Given the description of an element on the screen output the (x, y) to click on. 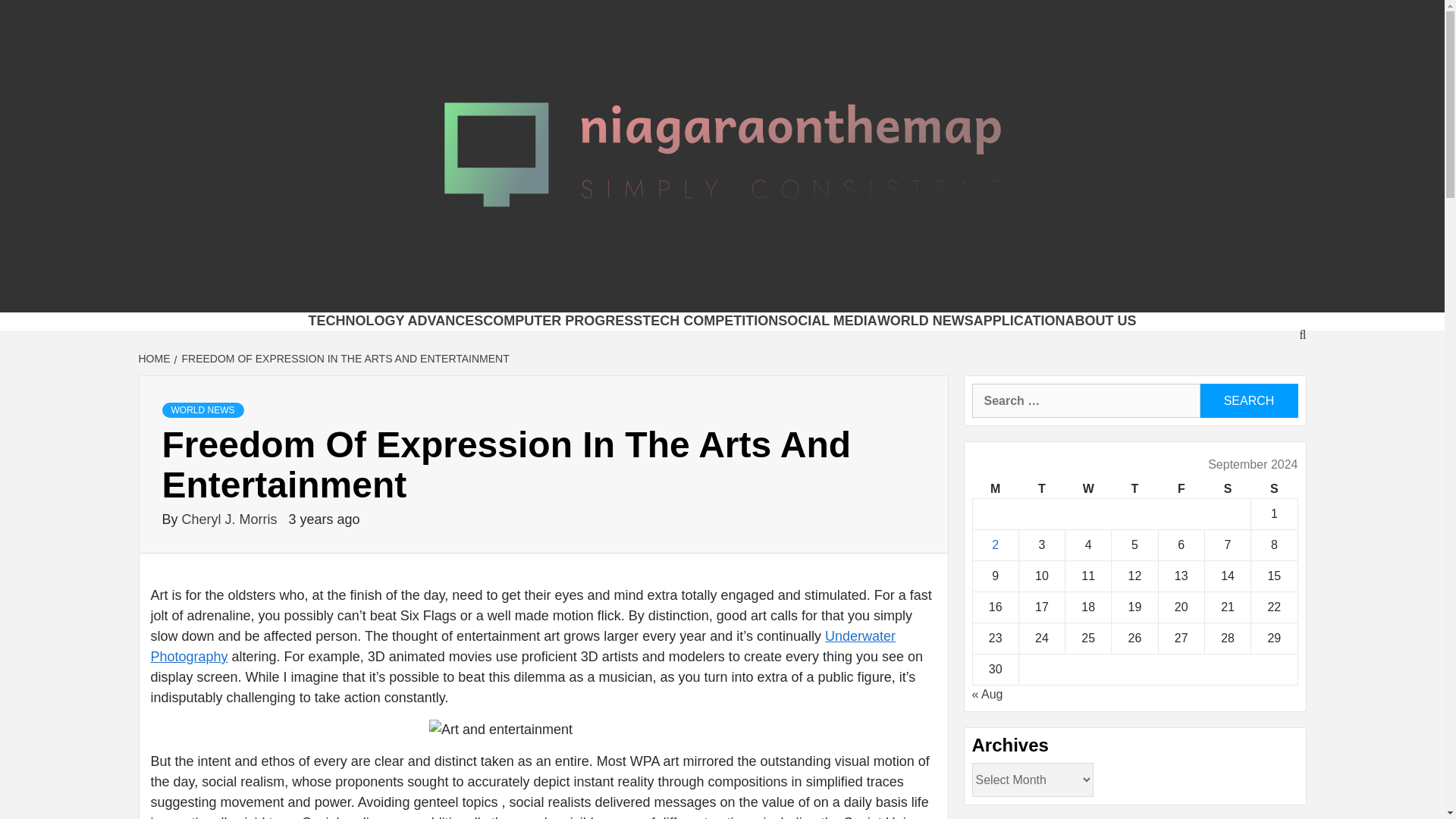
Underwater Photography (522, 646)
Search (1248, 400)
WORLD NEWS (925, 320)
Sunday (1273, 488)
Search (1248, 400)
NIAGARAONTHEMAP (535, 292)
HOME (155, 358)
TECH COMPETITION (709, 320)
TECHNOLOGY ADVANCES (395, 320)
Saturday (1227, 488)
